Given the description of an element on the screen output the (x, y) to click on. 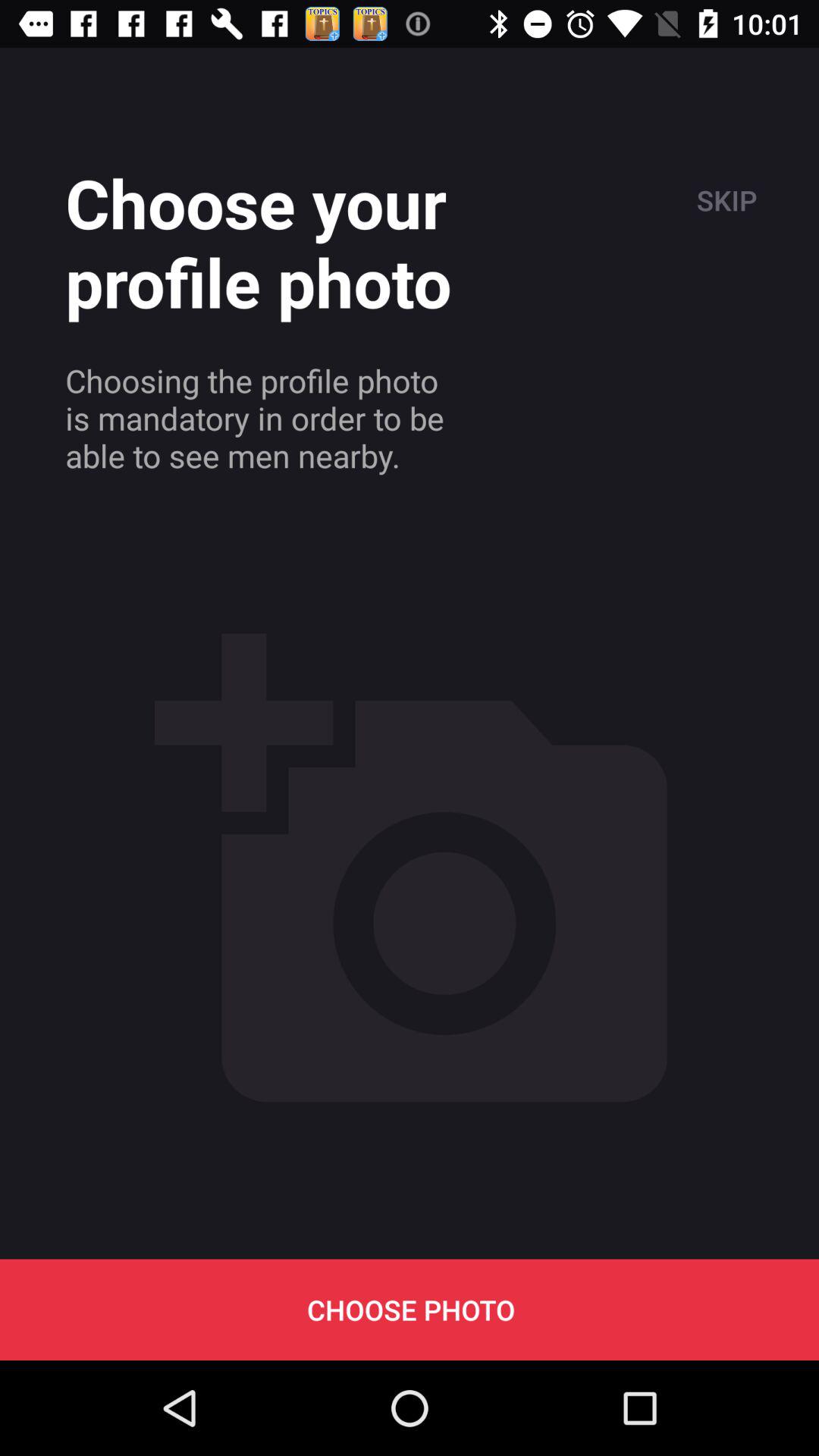
flip to skip item (725, 199)
